Given the description of an element on the screen output the (x, y) to click on. 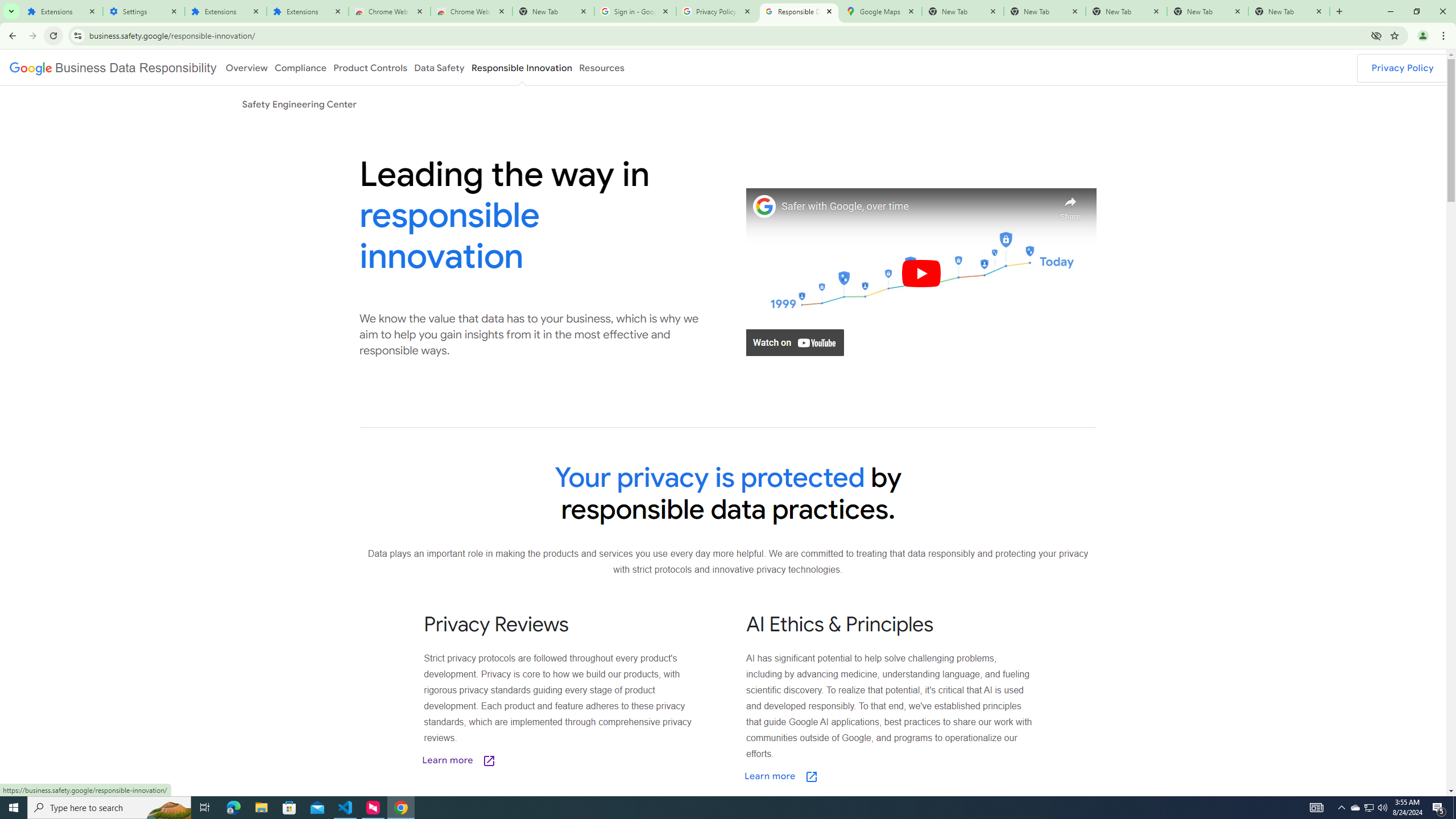
Restore (1416, 11)
System (6, 6)
Responsible Innovation (521, 67)
Share (1070, 205)
Google Maps (880, 11)
Bookmark this tab (1393, 35)
Address and search bar (726, 35)
Back (10, 35)
Sign in - Google Accounts (635, 11)
System (6, 6)
Safety Engineering Center (299, 103)
Google logo (112, 67)
